Given the description of an element on the screen output the (x, y) to click on. 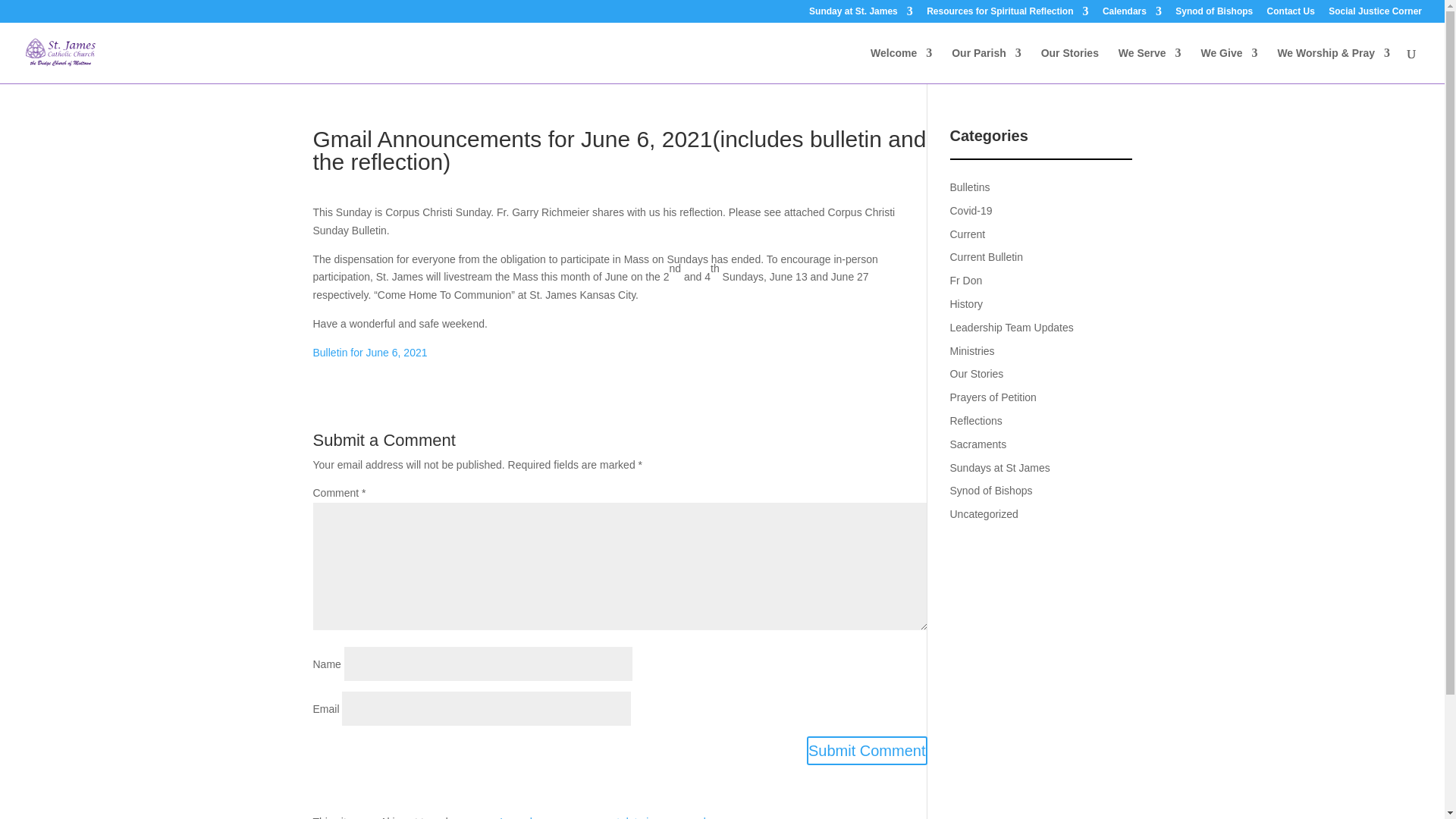
We Serve (1149, 65)
Calendars (1131, 14)
Our Stories (1070, 65)
Submit Comment (866, 750)
Social Justice Corner (1374, 14)
Welcome (900, 65)
Our Parish (987, 65)
Contact Us (1290, 14)
Synod of Bishops (1213, 14)
We Give (1228, 65)
